Given the description of an element on the screen output the (x, y) to click on. 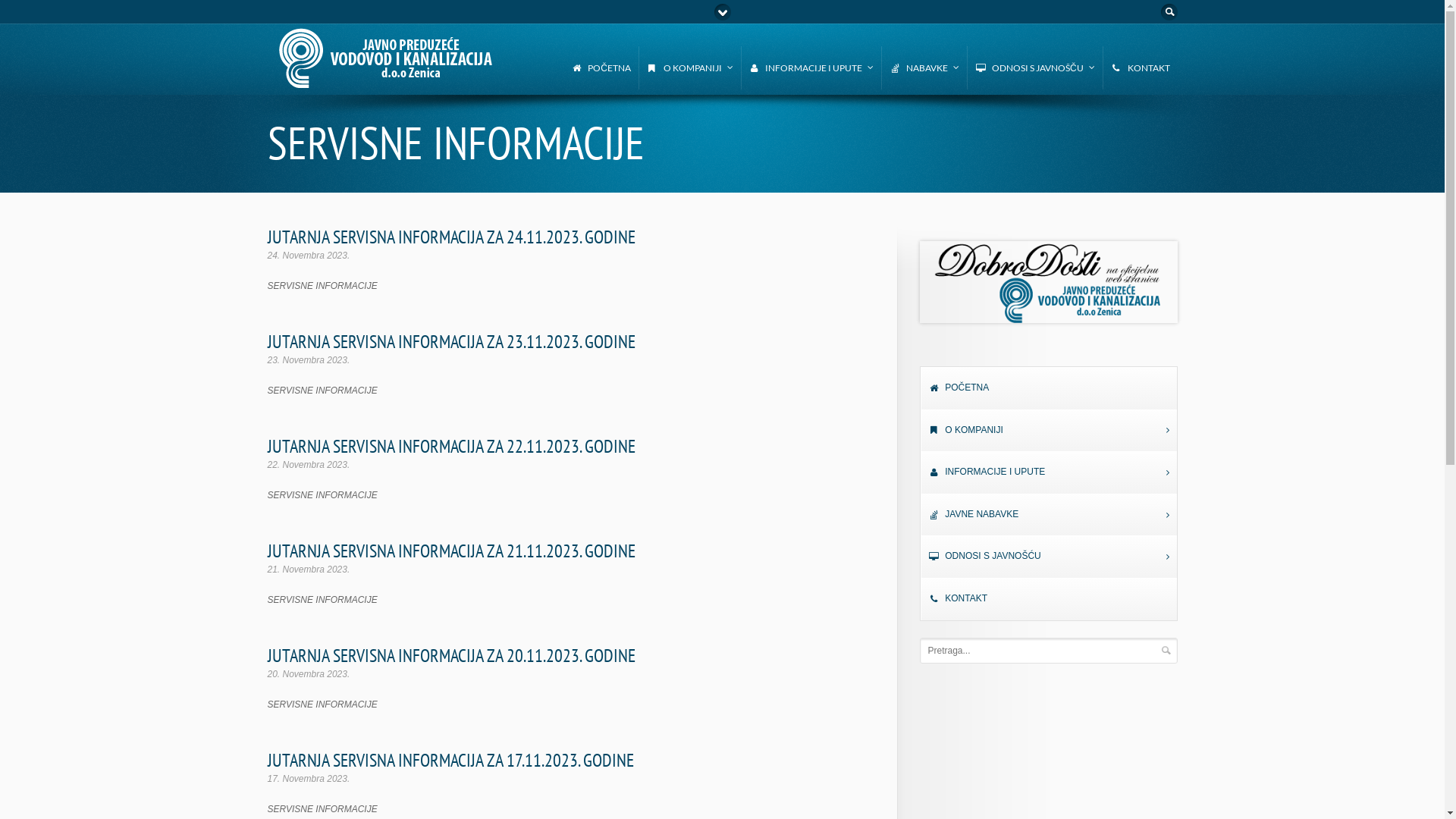
NABAVKE Element type: text (923, 67)
SERVISNE INFORMACIJE Element type: text (321, 390)
Pretraga Element type: text (1165, 650)
INFORMACIJE I UPUTE Element type: text (810, 67)
INFORMACIJE I UPUTE Element type: text (1048, 472)
SERVISNE INFORMACIJE Element type: text (321, 599)
O KOMPANIJI Element type: text (1048, 430)
Go back to the homepage Element type: hover (386, 81)
JUTARNJA SERVISNA INFORMACIJA ZA 21.11.2023. GODINE Element type: text (450, 550)
SERVISNE INFORMACIJE Element type: text (321, 704)
SERVISNE INFORMACIJE Element type: text (321, 808)
JUTARNJA SERVISNA INFORMACIJA ZA 24.11.2023. GODINE Element type: text (450, 236)
KONTAKT Element type: text (1139, 67)
O KOMPANIJI Element type: text (689, 67)
KONTAKT Element type: text (1048, 598)
JUTARNJA SERVISNA INFORMACIJA ZA 22.11.2023. GODINE Element type: text (450, 446)
SERVISNE INFORMACIJE Element type: text (321, 494)
JAVNE NABAVKE Element type: text (1048, 514)
JUTARNJA SERVISNA INFORMACIJA ZA 20.11.2023. GODINE Element type: text (450, 655)
JUTARNJA SERVISNA INFORMACIJA ZA 17.11.2023. GODINE Element type: text (449, 759)
JUTARNJA SERVISNA INFORMACIJA ZA 23.11.2023. GODINE Element type: text (450, 341)
SERVISNE INFORMACIJE Element type: text (321, 285)
